Given the description of an element on the screen output the (x, y) to click on. 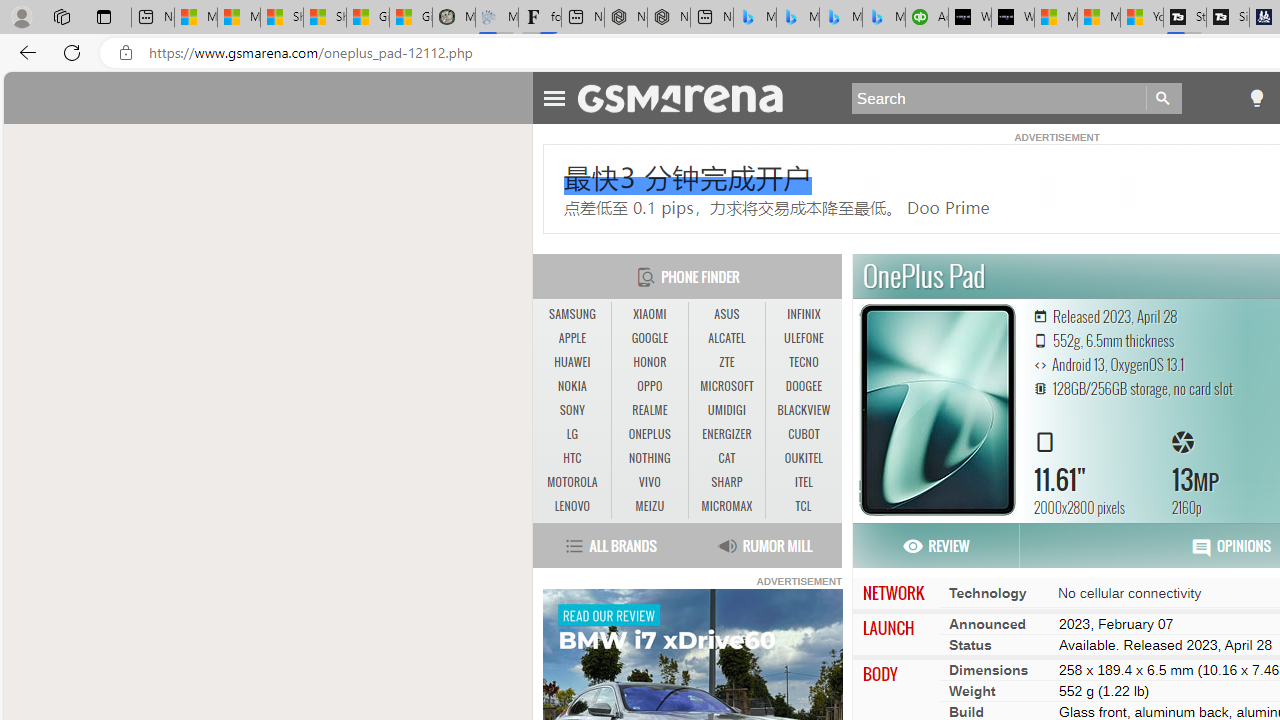
OnePlus Pad MORE PICTURES (937, 409)
ALCATEL (726, 339)
CAT (726, 457)
LENOVO (571, 506)
INFINIX (803, 313)
Toggle Navigation (553, 95)
Manatee Mortality Statistics | FWC (453, 17)
What's the best AI voice generator? - voice.ai (1013, 17)
APPLE (571, 338)
LG (571, 434)
HTC (571, 458)
Gilma and Hector both pose tropical trouble for Hawaii (411, 17)
ASUS (726, 313)
